Given the description of an element on the screen output the (x, y) to click on. 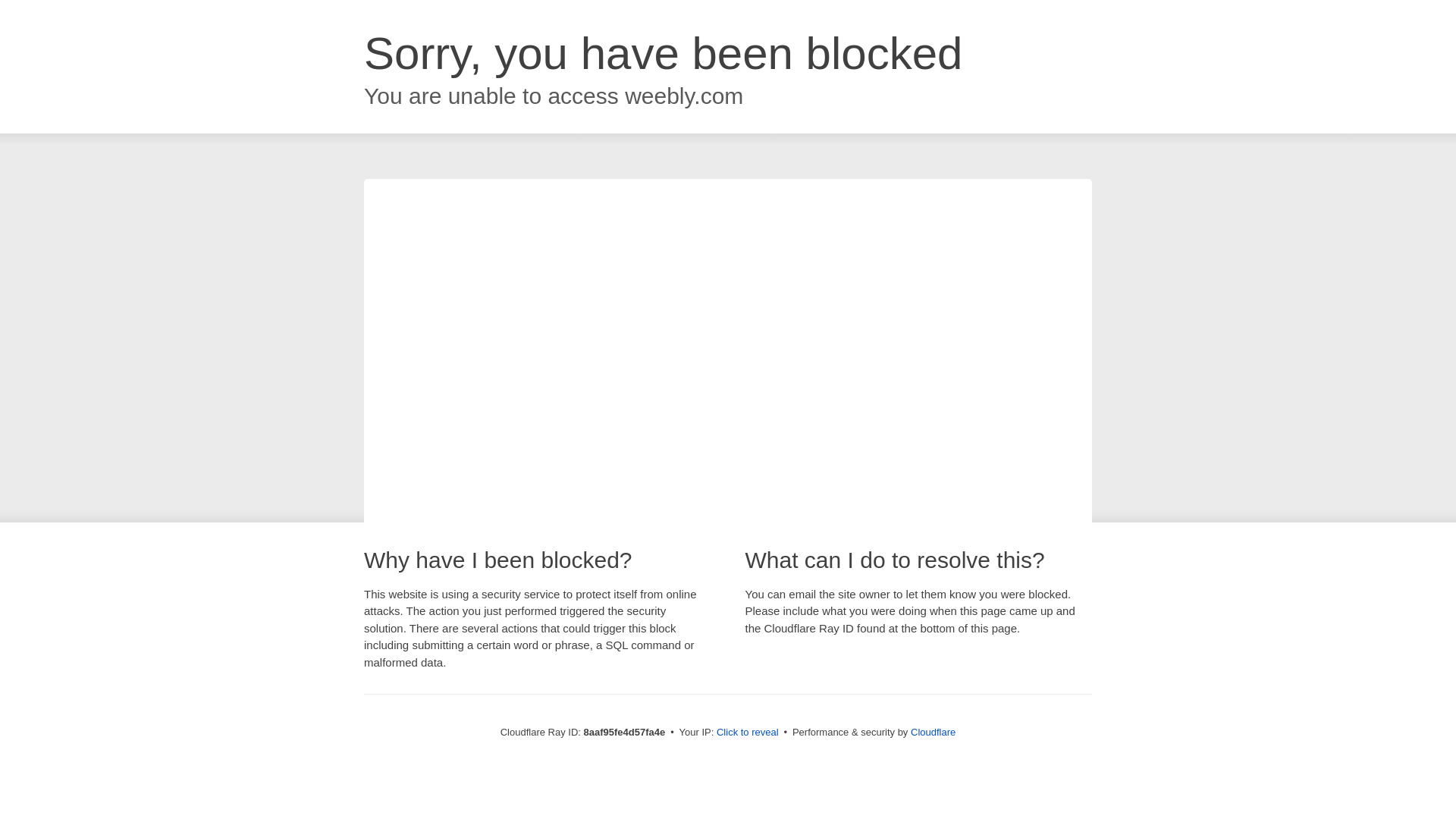
Click to reveal (747, 732)
Cloudflare (933, 731)
